Given the description of an element on the screen output the (x, y) to click on. 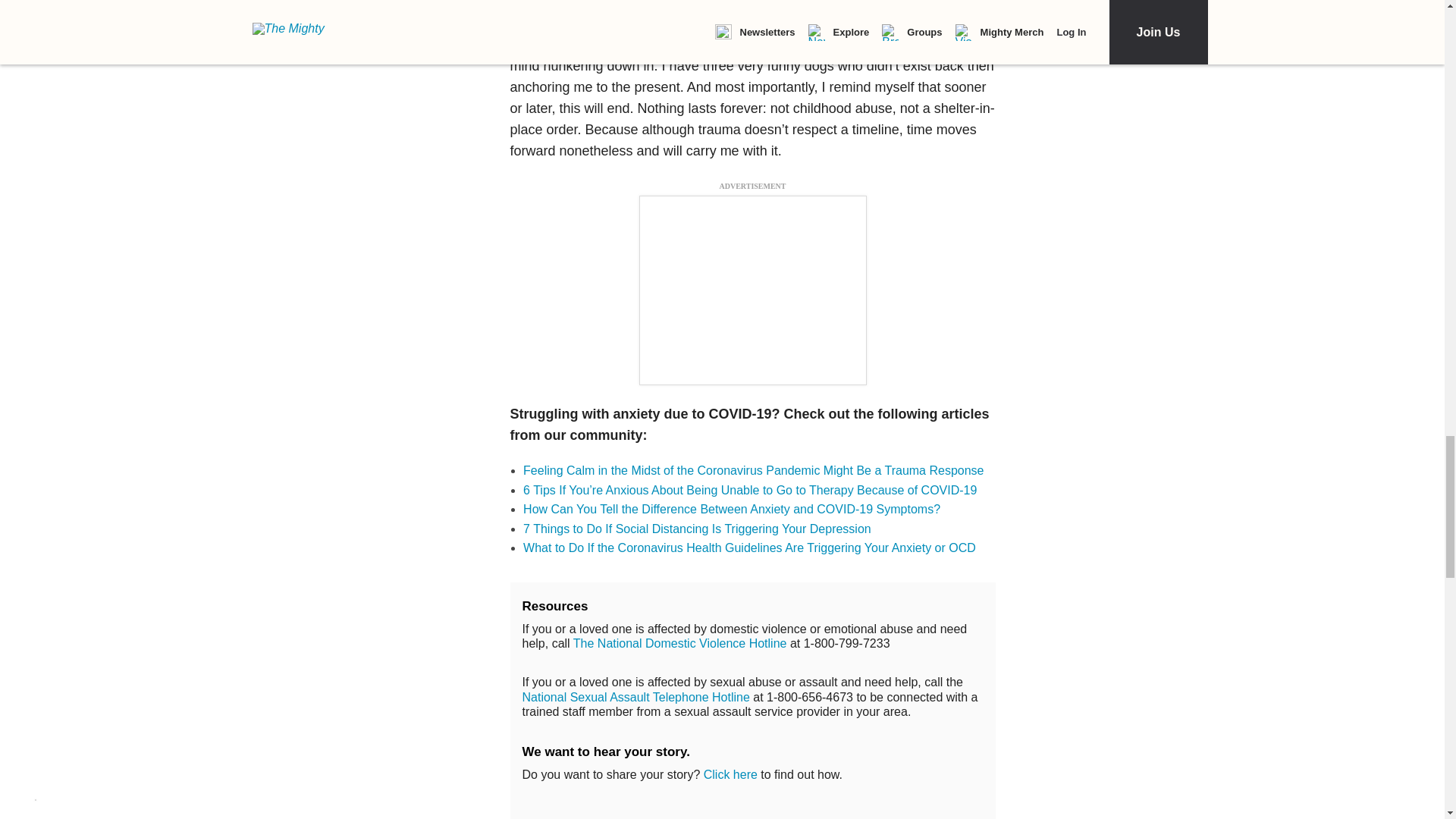
stop the thoughts before they spiral (732, 16)
